Given the description of an element on the screen output the (x, y) to click on. 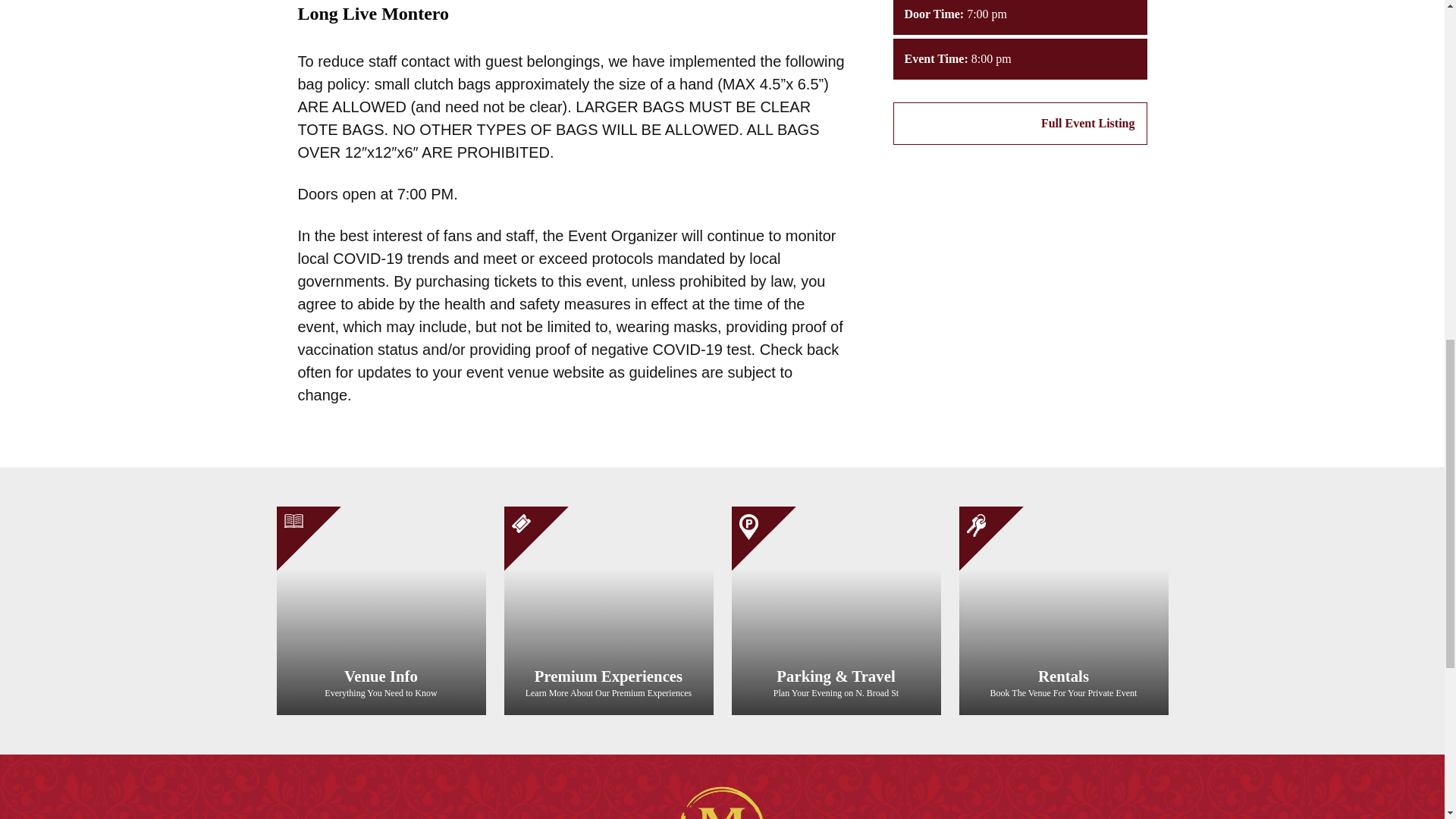
Full Event Listing (1020, 123)
